Given the description of an element on the screen output the (x, y) to click on. 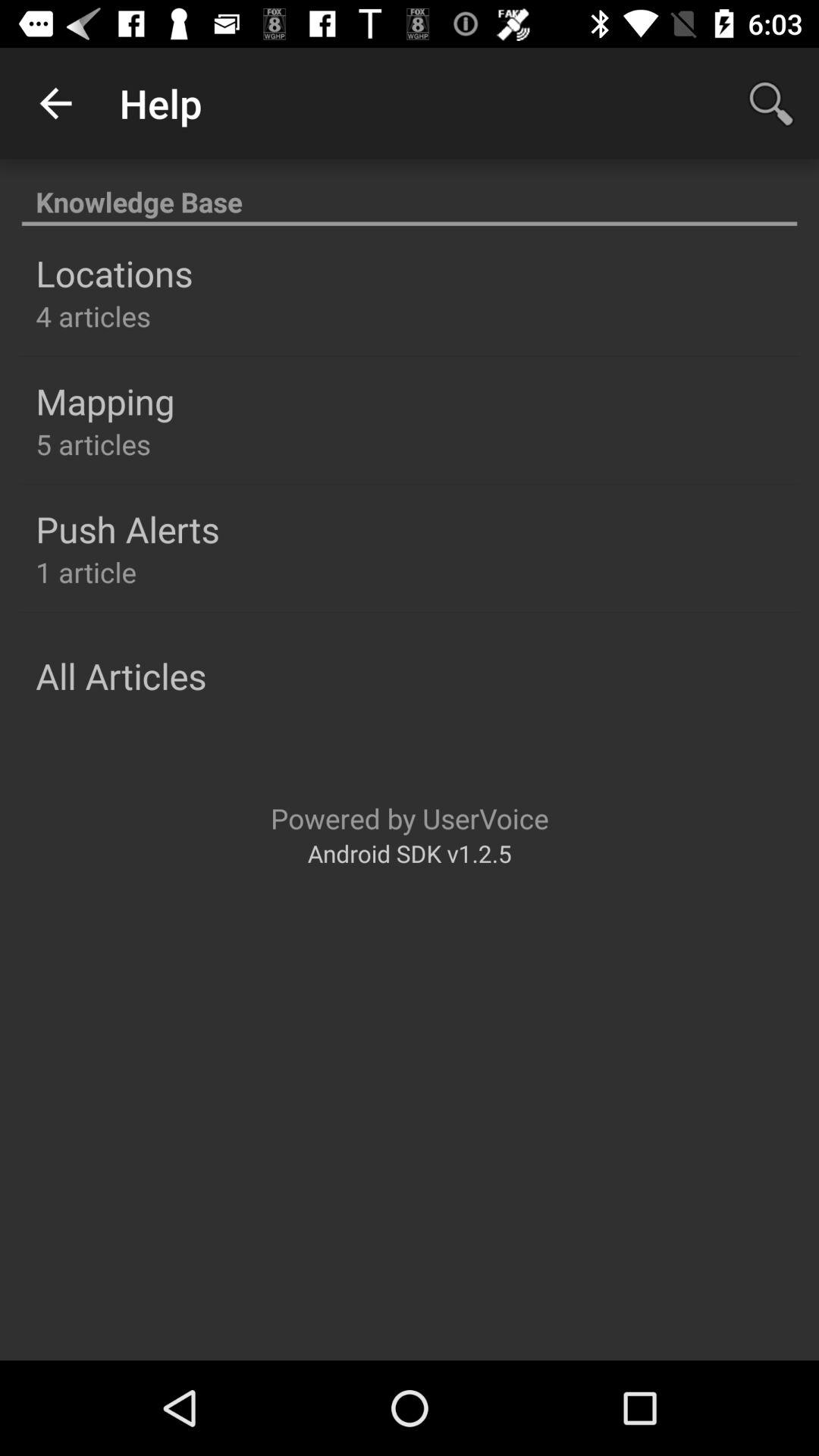
turn on icon above powered by uservoice icon (120, 675)
